Given the description of an element on the screen output the (x, y) to click on. 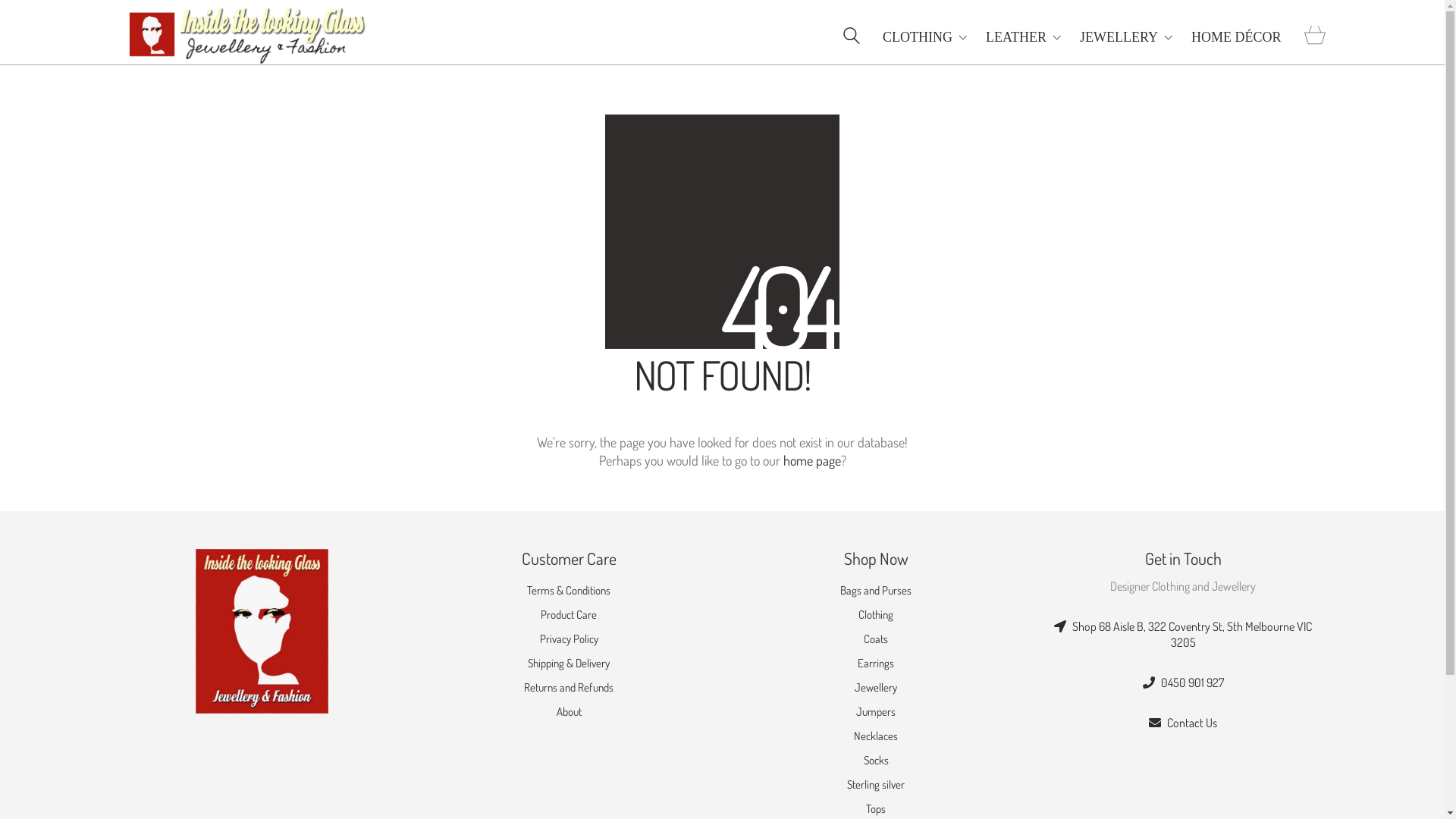
Coats Element type: text (875, 638)
Jumpers Element type: text (875, 711)
Tops Element type: text (875, 808)
Privacy Policy Element type: text (568, 638)
  Shop 68 Aisle B, 322 Coventry St, Sth Melbourne VIC 3205 Element type: text (1182, 634)
Bags and Purses Element type: text (875, 590)
Socks Element type: text (875, 760)
Clothing Element type: text (875, 614)
Jewellery Element type: text (875, 687)
Necklaces Element type: text (875, 735)
Terms & Conditions Element type: text (568, 590)
Earrings Element type: text (875, 663)
About Element type: text (568, 711)
CLOTHING Element type: text (924, 35)
LEATHER Element type: text (1022, 35)
  Contact Us Element type: text (1182, 723)
Shipping & Delivery Element type: text (568, 663)
JEWELLERY Element type: text (1125, 35)
Returns and Refunds Element type: text (568, 687)
  0450 901 927 Element type: text (1182, 682)
Sterling silver Element type: text (875, 784)
home page Element type: text (811, 460)
Product Care Element type: text (568, 614)
